Given the description of an element on the screen output the (x, y) to click on. 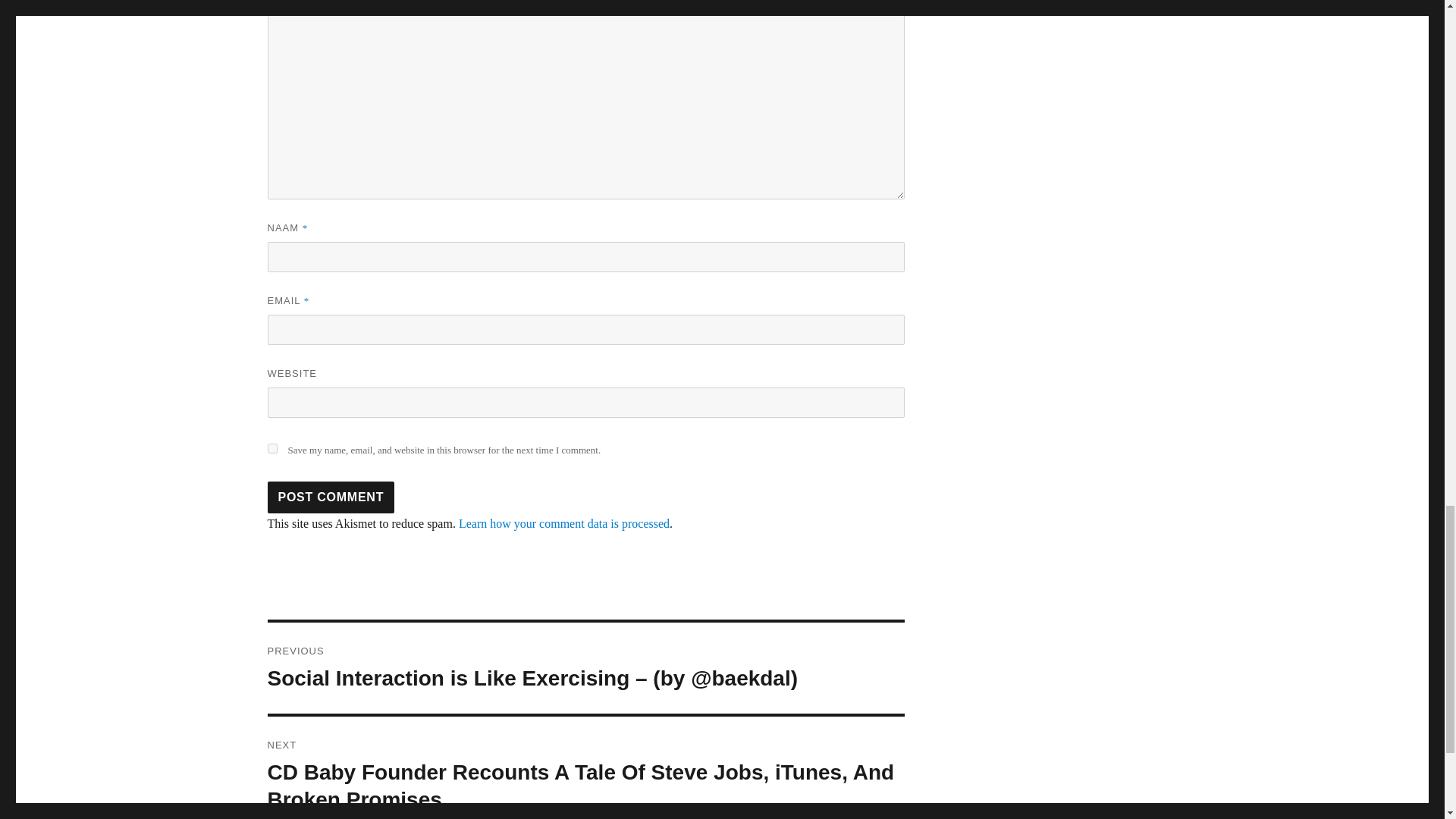
Learn how your comment data is processed (563, 522)
Post Comment (330, 497)
yes (271, 448)
Post Comment (330, 497)
